Given the description of an element on the screen output the (x, y) to click on. 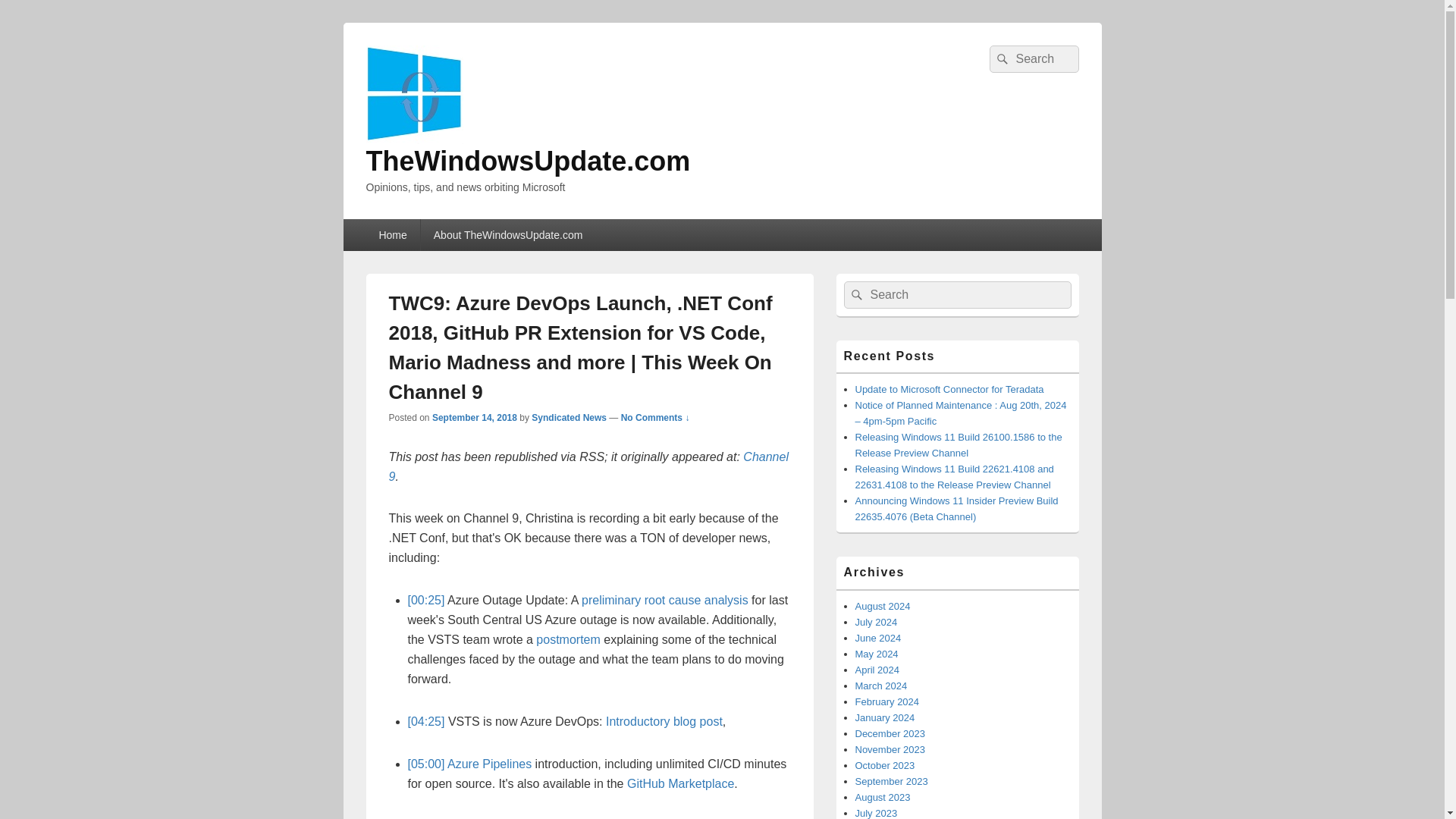
View all posts by Syndicated News (569, 417)
4:48 PM (474, 417)
Syndicated News (569, 417)
Azure Pipelines (488, 763)
TheWindowsUpdate.com (527, 160)
About TheWindowsUpdate.com (507, 234)
Channel 9 (587, 466)
Introductory blog post (663, 721)
Search for: (1033, 58)
Home (392, 234)
